Given the description of an element on the screen output the (x, y) to click on. 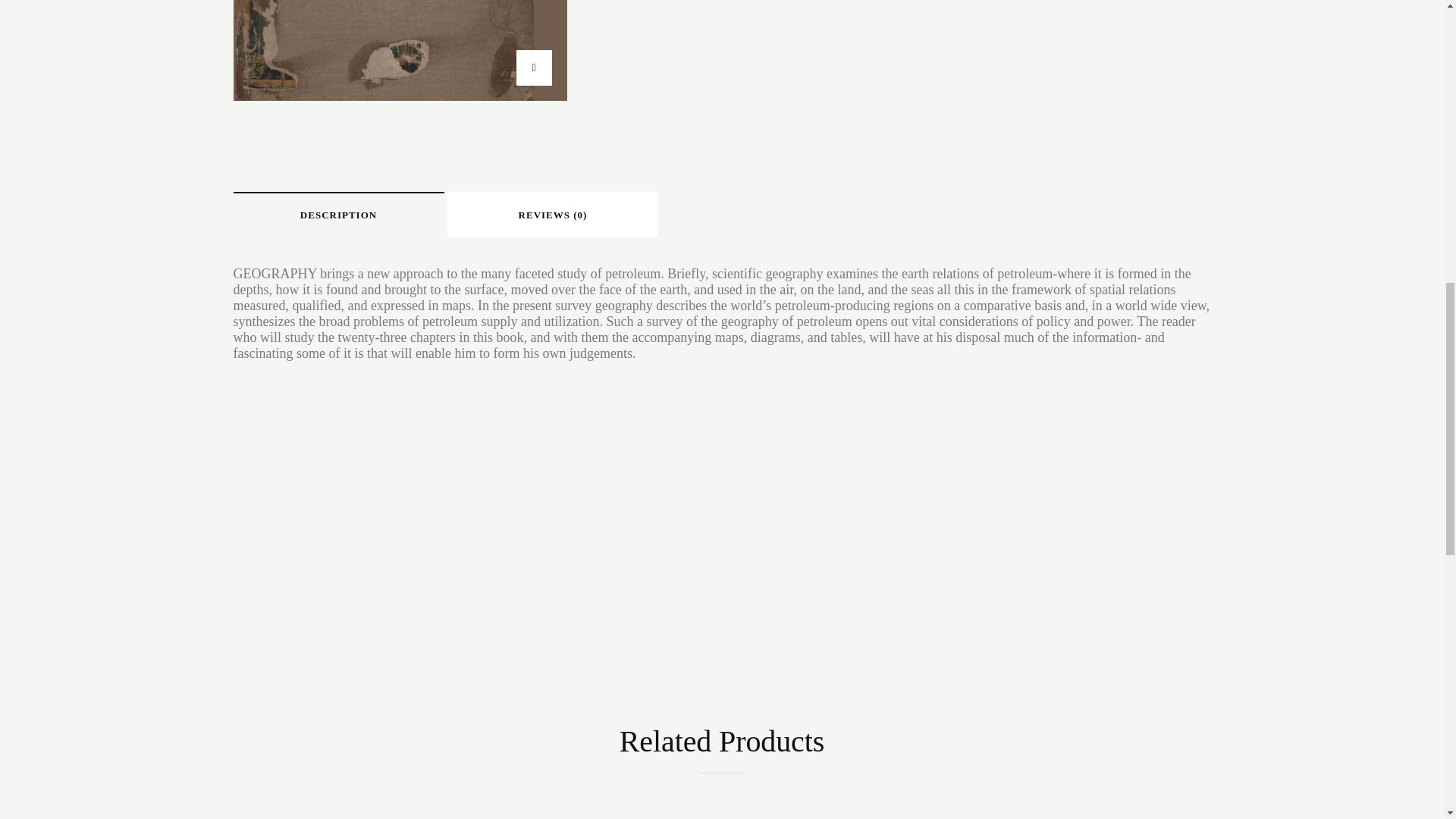
Capture (399, 50)
